Given the description of an element on the screen output the (x, y) to click on. 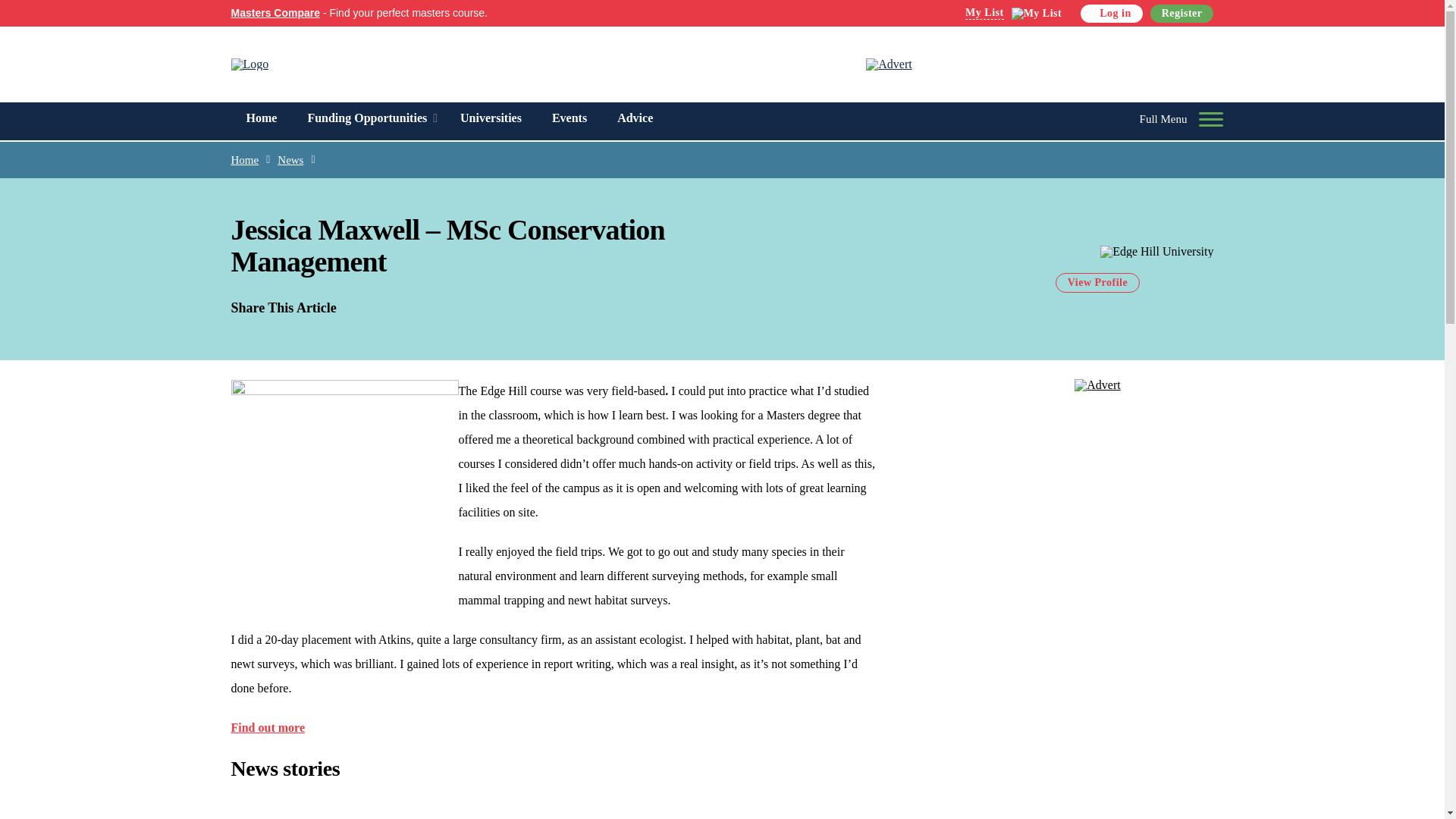
Masters Compare (275, 12)
Funding Opportunities (367, 118)
Log in (1111, 13)
Advice (635, 118)
My List (1013, 13)
Register (1182, 13)
Universities (491, 118)
View Profile (1097, 282)
Events (569, 118)
Full Menu (1168, 118)
Home (244, 159)
Home (261, 118)
Find out more (267, 727)
News (290, 159)
